Given the description of an element on the screen output the (x, y) to click on. 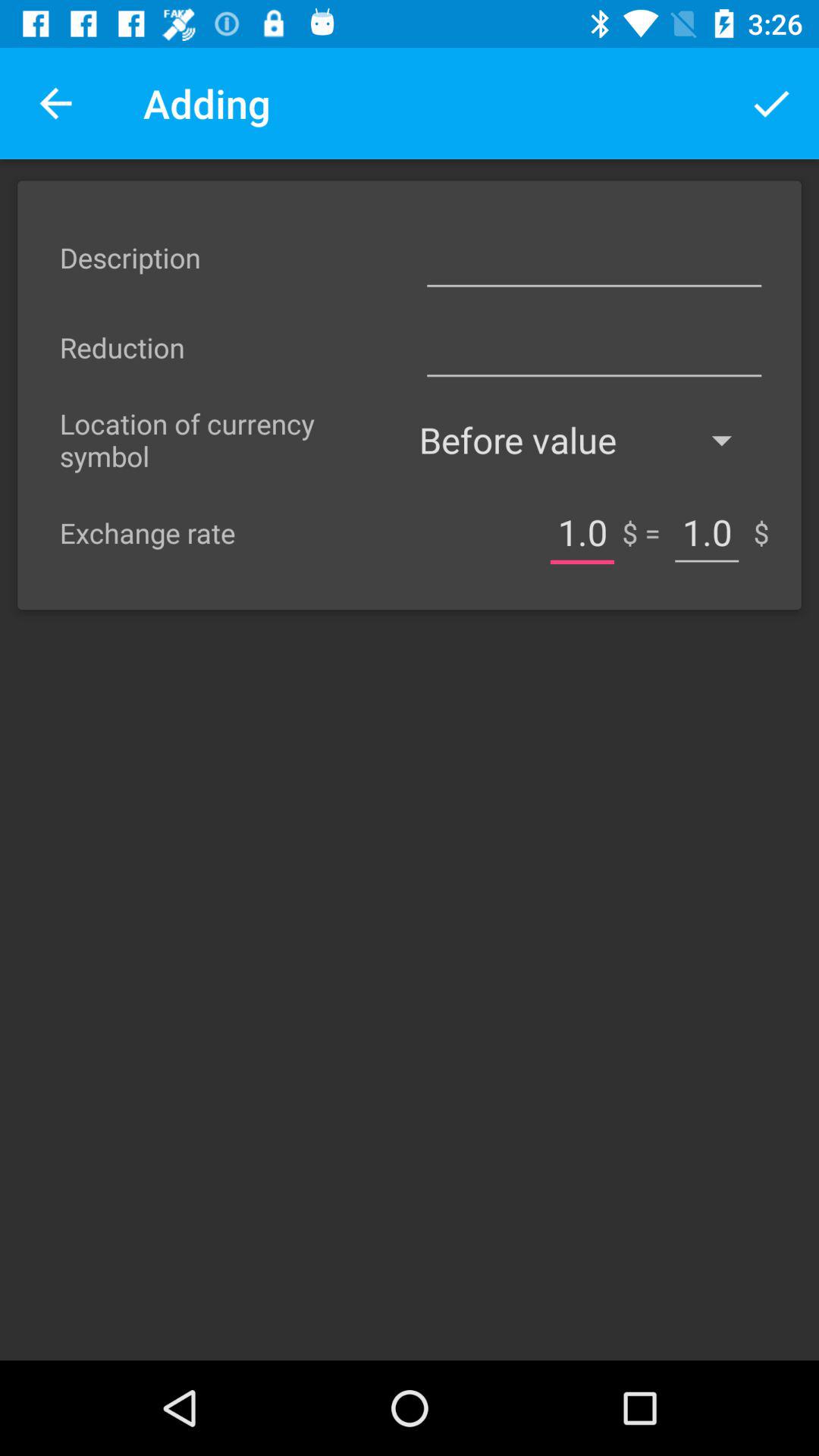
reduction amount (594, 347)
